Given the description of an element on the screen output the (x, y) to click on. 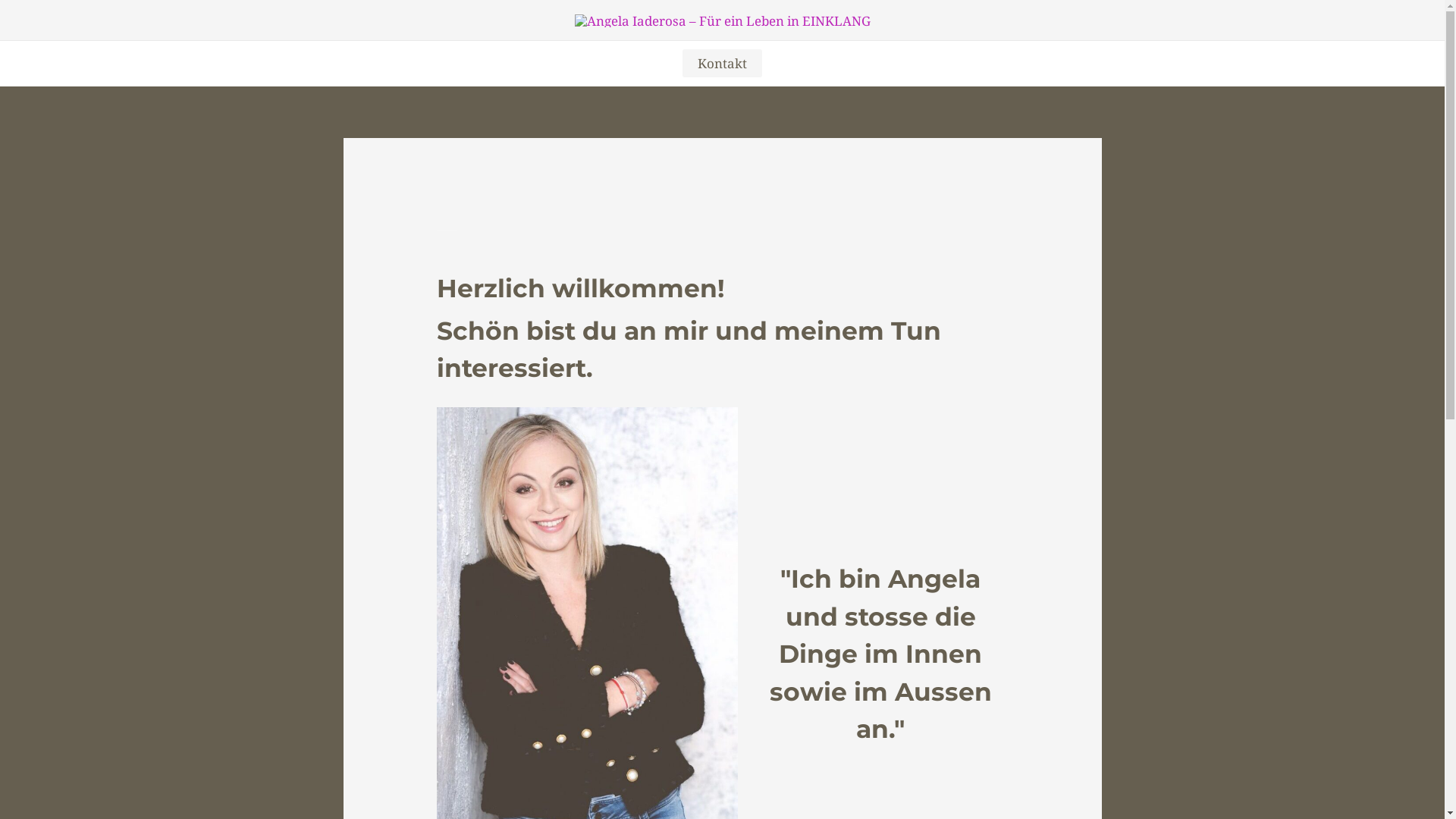
Kontakt Element type: text (722, 63)
